Given the description of an element on the screen output the (x, y) to click on. 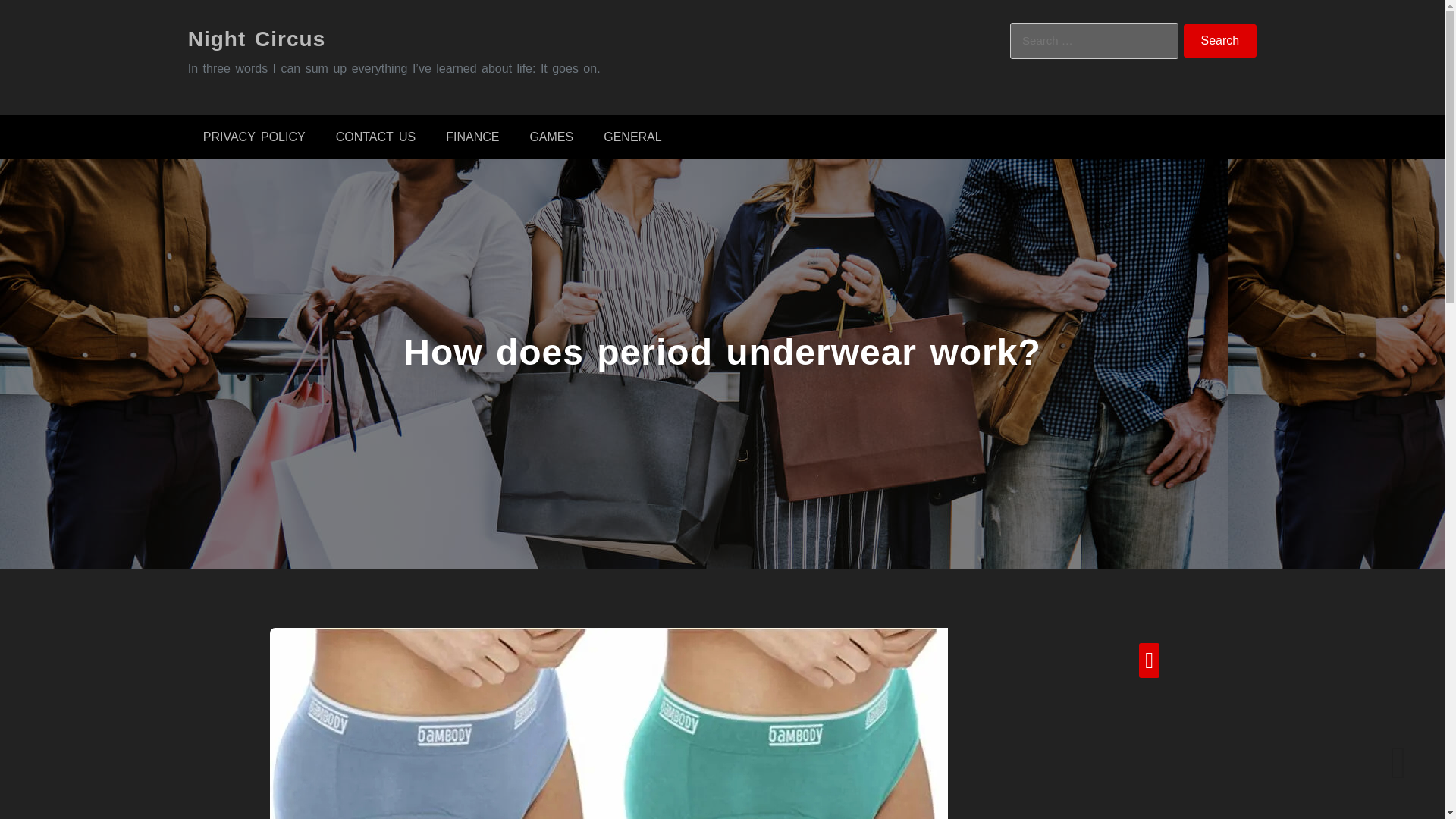
Night Circus (255, 38)
Search (1220, 40)
PRIVACY POLICY (253, 136)
Search (1220, 40)
CONTACT US (375, 136)
Search (1220, 40)
FINANCE (471, 136)
GENERAL (632, 136)
GAMES (550, 136)
